Given the description of an element on the screen output the (x, y) to click on. 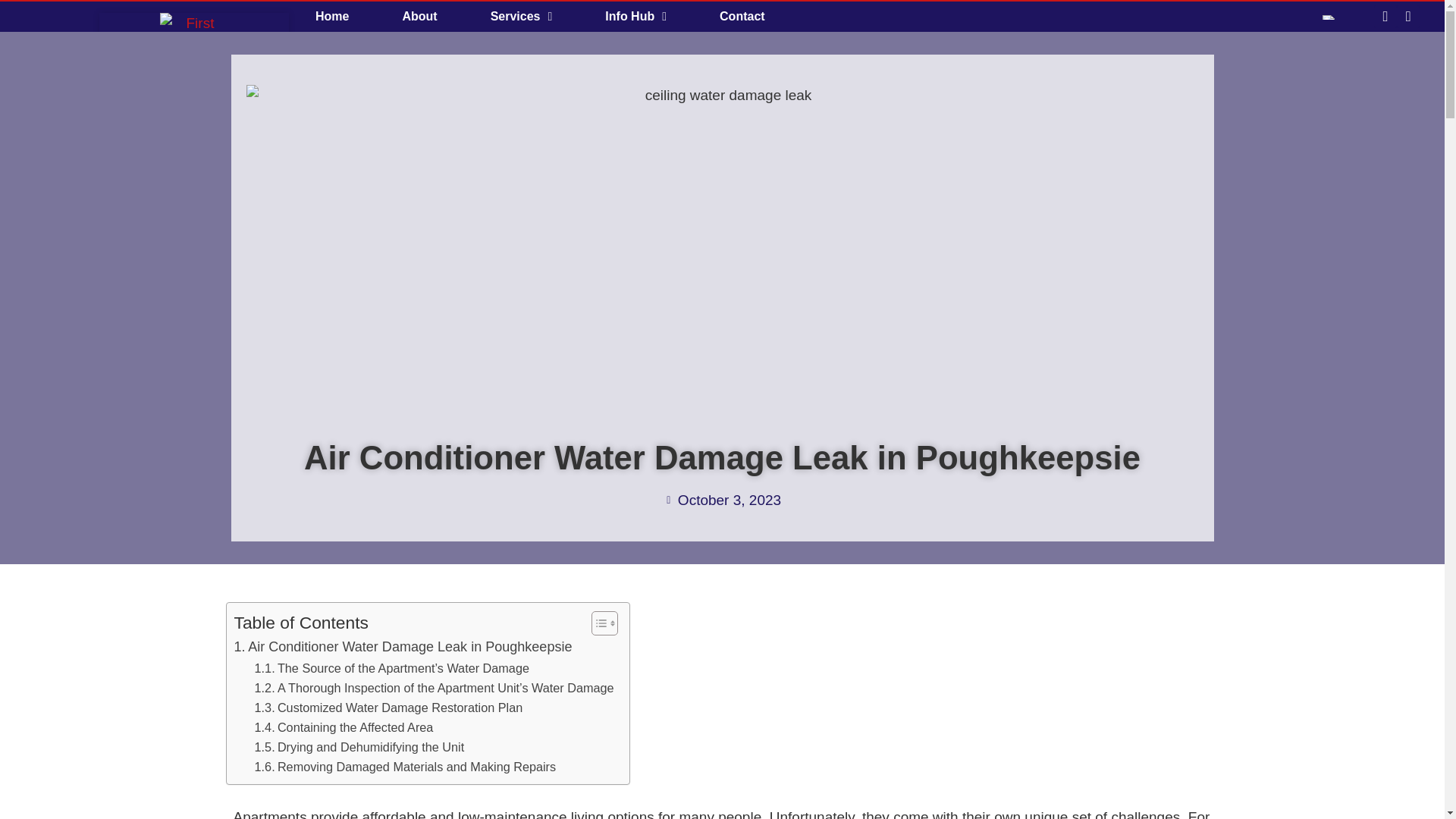
Emergency Restoration Services (331, 16)
Services (521, 16)
Contact Us (742, 16)
Contact (742, 16)
Home (331, 16)
Air Conditioner Water Damage Leak in Poughkeepsie (402, 647)
Info Hub (635, 16)
About Us (419, 16)
About (419, 16)
